Given the description of an element on the screen output the (x, y) to click on. 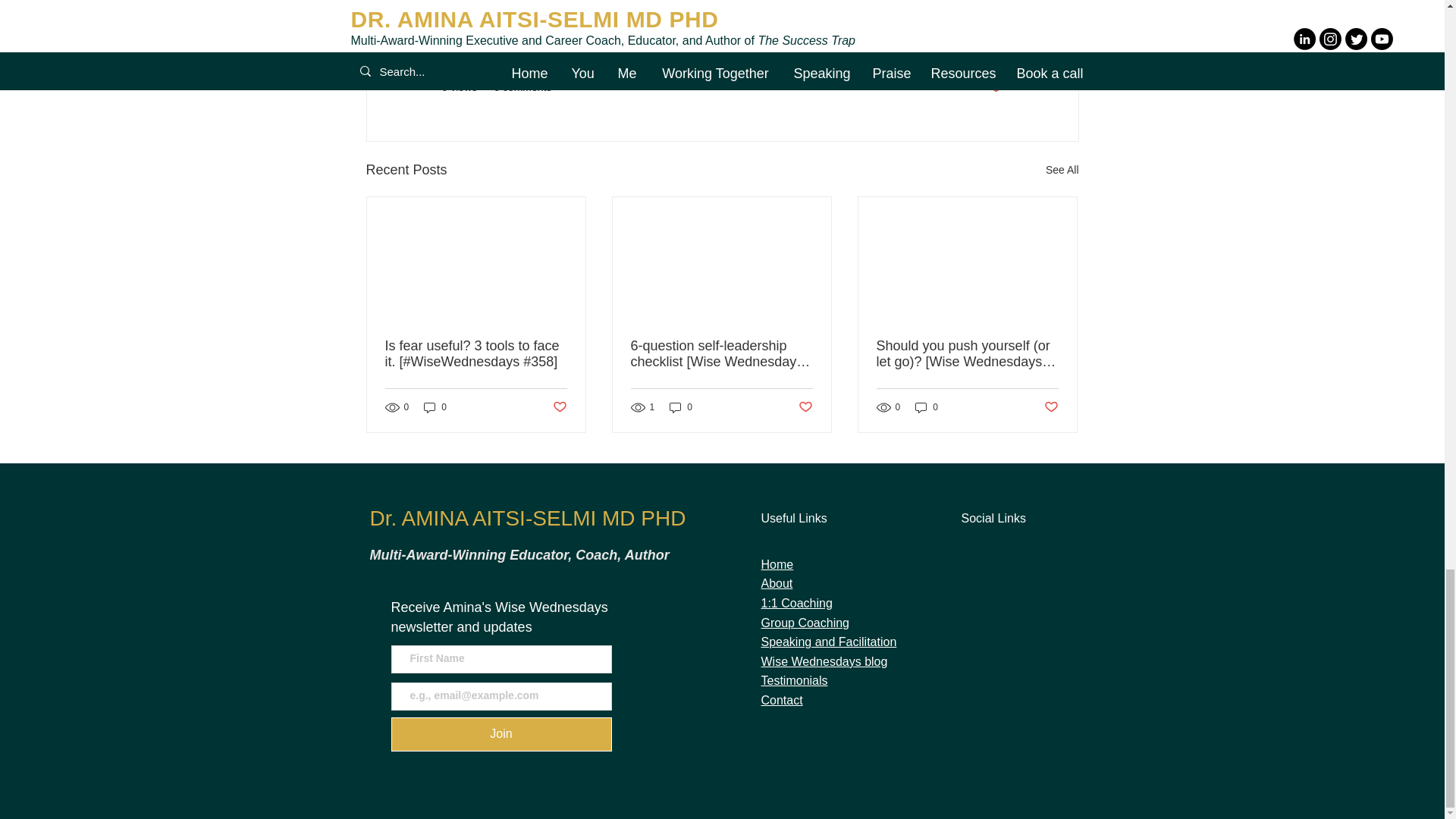
Post not marked as liked (558, 407)
0 (435, 407)
See All (1061, 169)
Post not marked as liked (995, 87)
0 (681, 407)
Post not marked as liked (804, 407)
